Given the description of an element on the screen output the (x, y) to click on. 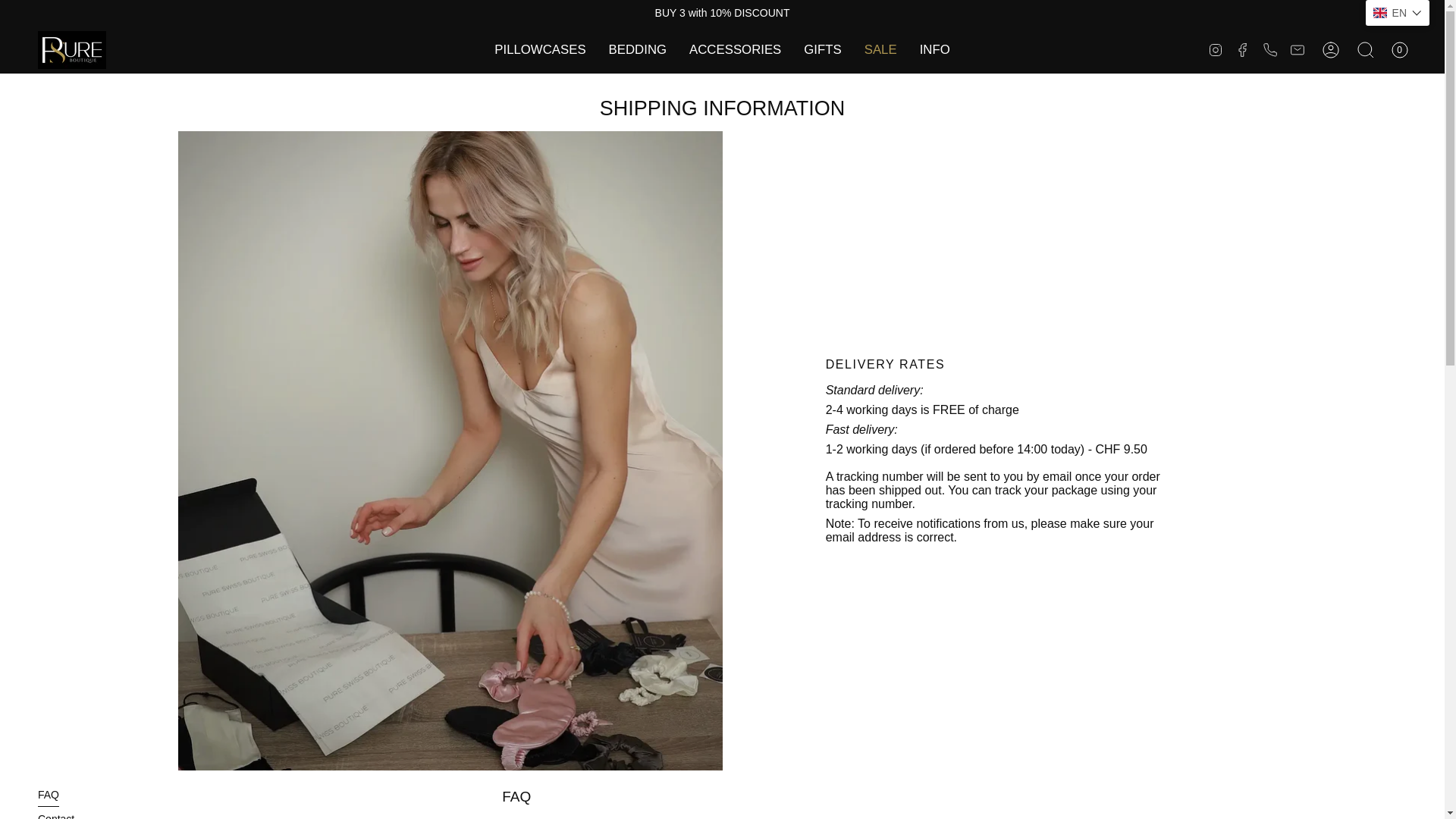
BEDDING (637, 49)
INFO (934, 49)
PSBOUTIQUE.CH on Instagram (1215, 48)
SALE (880, 49)
PSBOUTIQUE.CH on Facebook (1242, 48)
PSBOUTIQUE.CH on Twitter (1270, 48)
Cart (1399, 50)
My Account (1330, 49)
GIFTS (821, 49)
ACCESSORIES (735, 49)
Search (1365, 49)
PSBOUTIQUE.CH on Feed (1297, 48)
PILLOWCASES (539, 49)
